Given the description of an element on the screen output the (x, y) to click on. 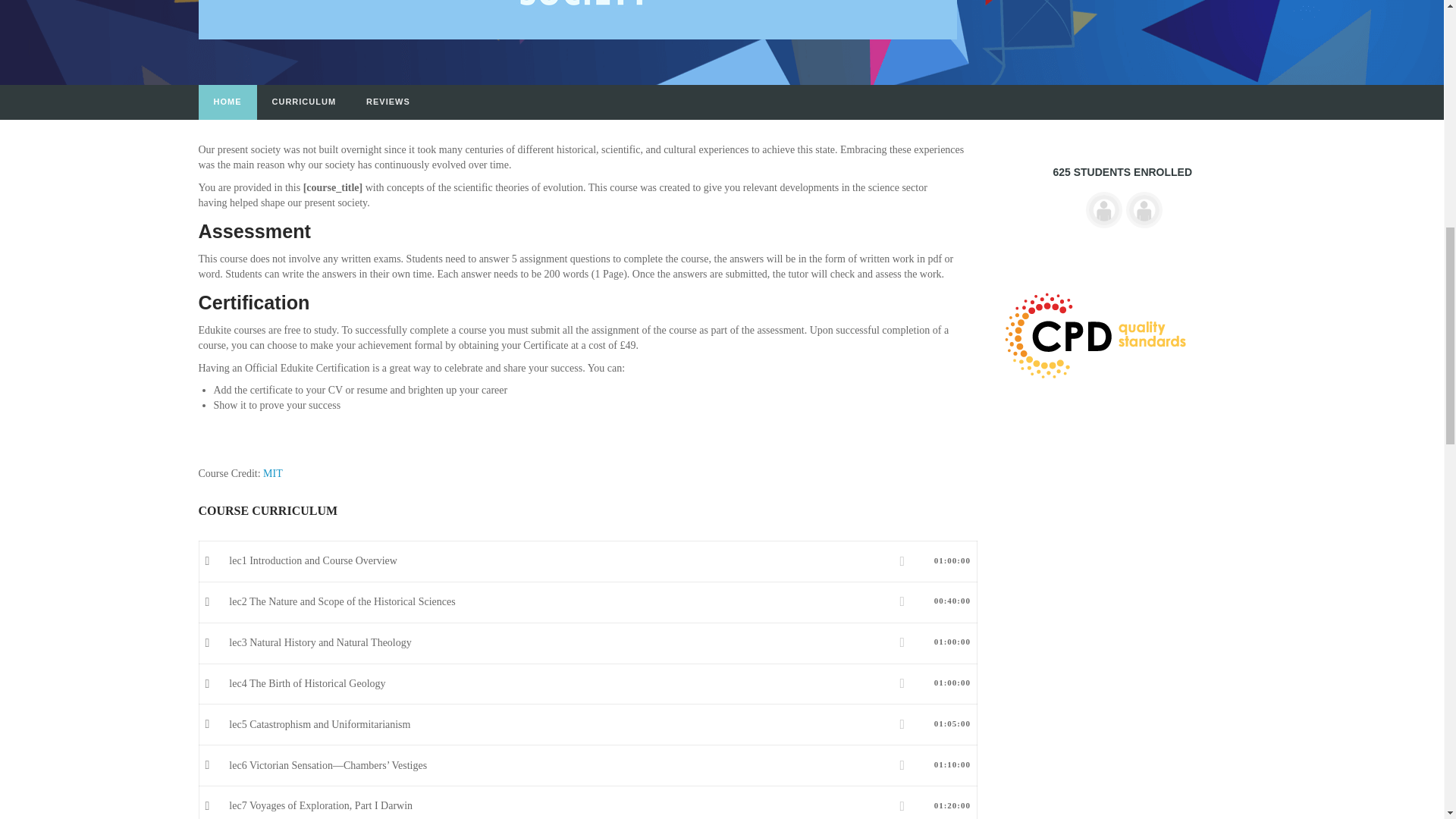
CURRICULUM (303, 102)
REVIEWS (387, 102)
MIT (272, 473)
HOME (227, 102)
